Given the description of an element on the screen output the (x, y) to click on. 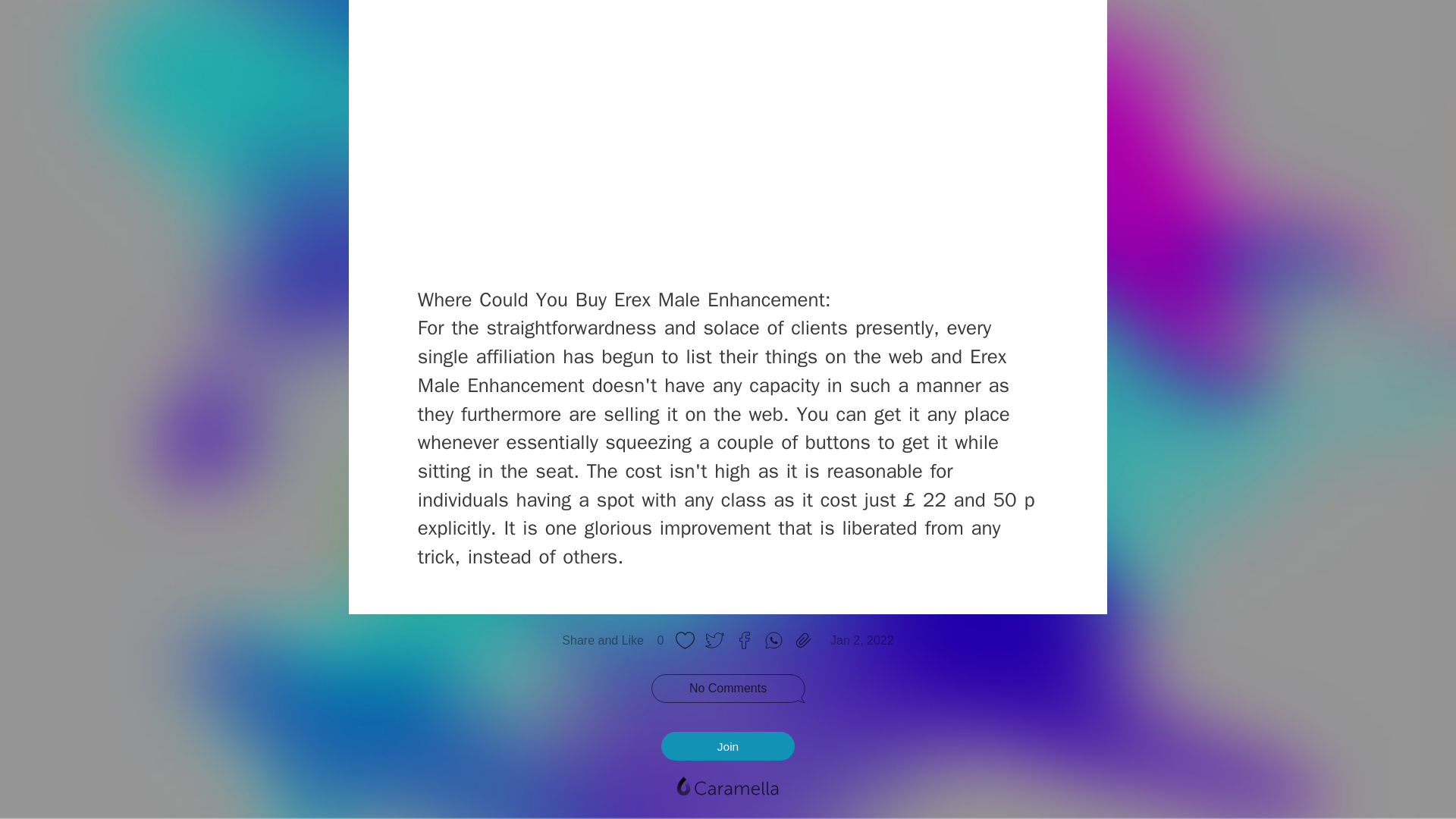
Share on Twitter (714, 640)
Show navigation menu (727, 787)
Join (727, 746)
Share on Facebook (743, 640)
Share on Whatsapp (773, 640)
Like this post (684, 640)
No Comments (728, 688)
